Given the description of an element on the screen output the (x, y) to click on. 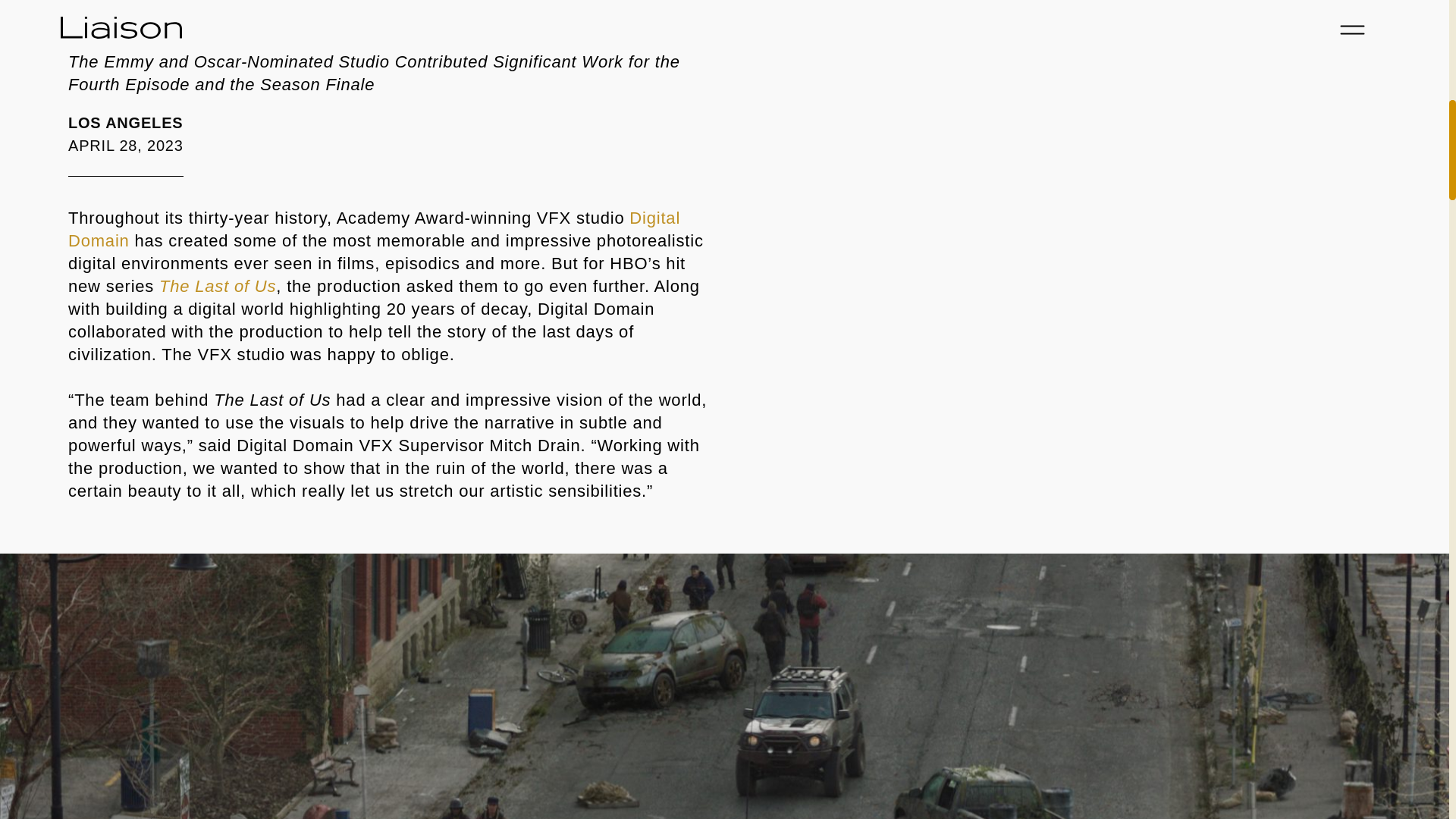
The Last of Us (217, 285)
Digital Domain (373, 229)
